Given the description of an element on the screen output the (x, y) to click on. 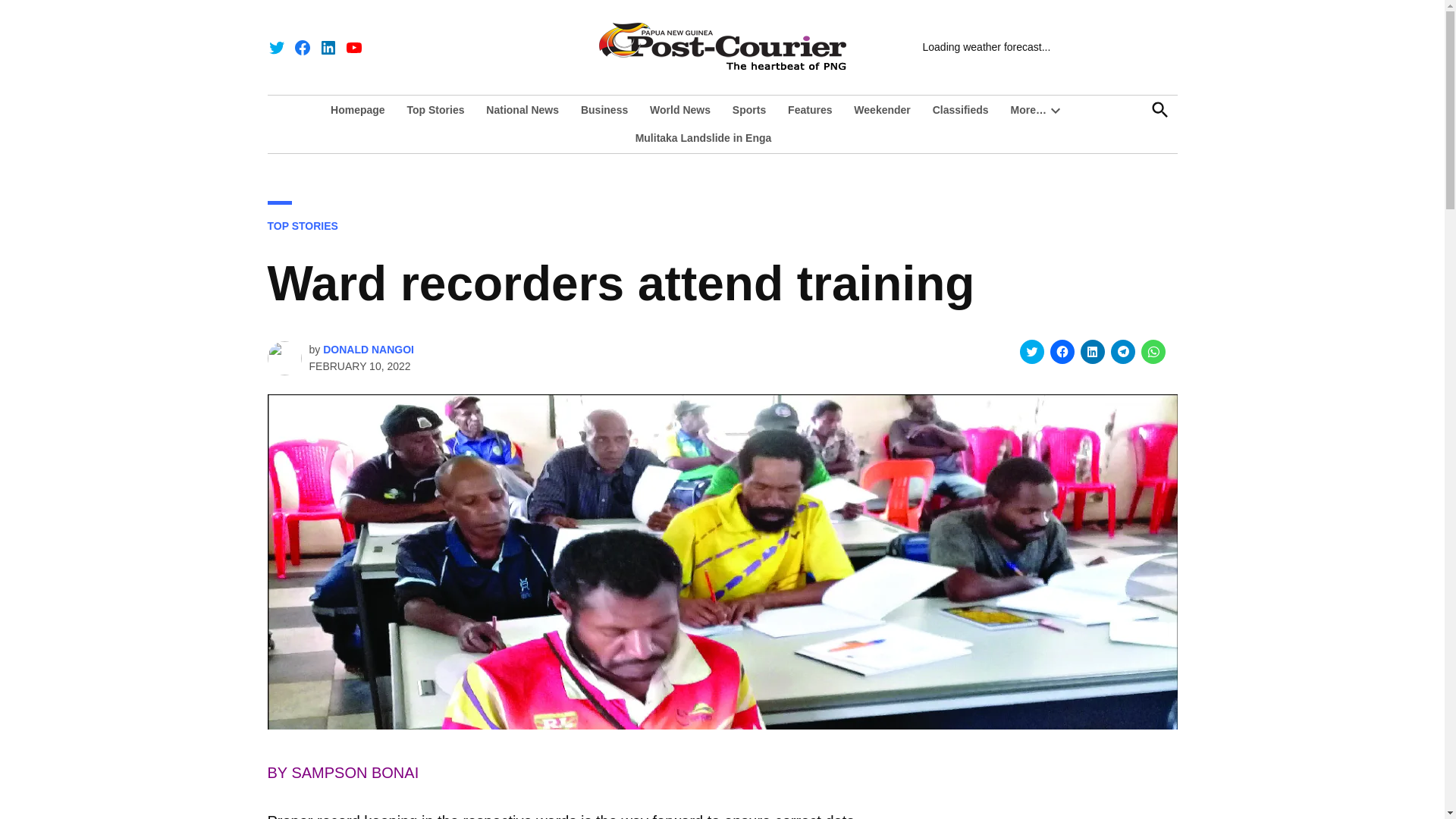
Click to share on LinkedIn (1091, 351)
Click to share on Facebook (1061, 351)
Click to share on Twitter (1031, 351)
Top Stories (434, 109)
YouTube (352, 46)
LinkedIn (327, 46)
Twitter (275, 46)
Post Courier (1025, 56)
Click to share on Telegram (1121, 351)
Homepage (361, 109)
Click to share on WhatsApp (1152, 351)
Facebook (301, 46)
